Given the description of an element on the screen output the (x, y) to click on. 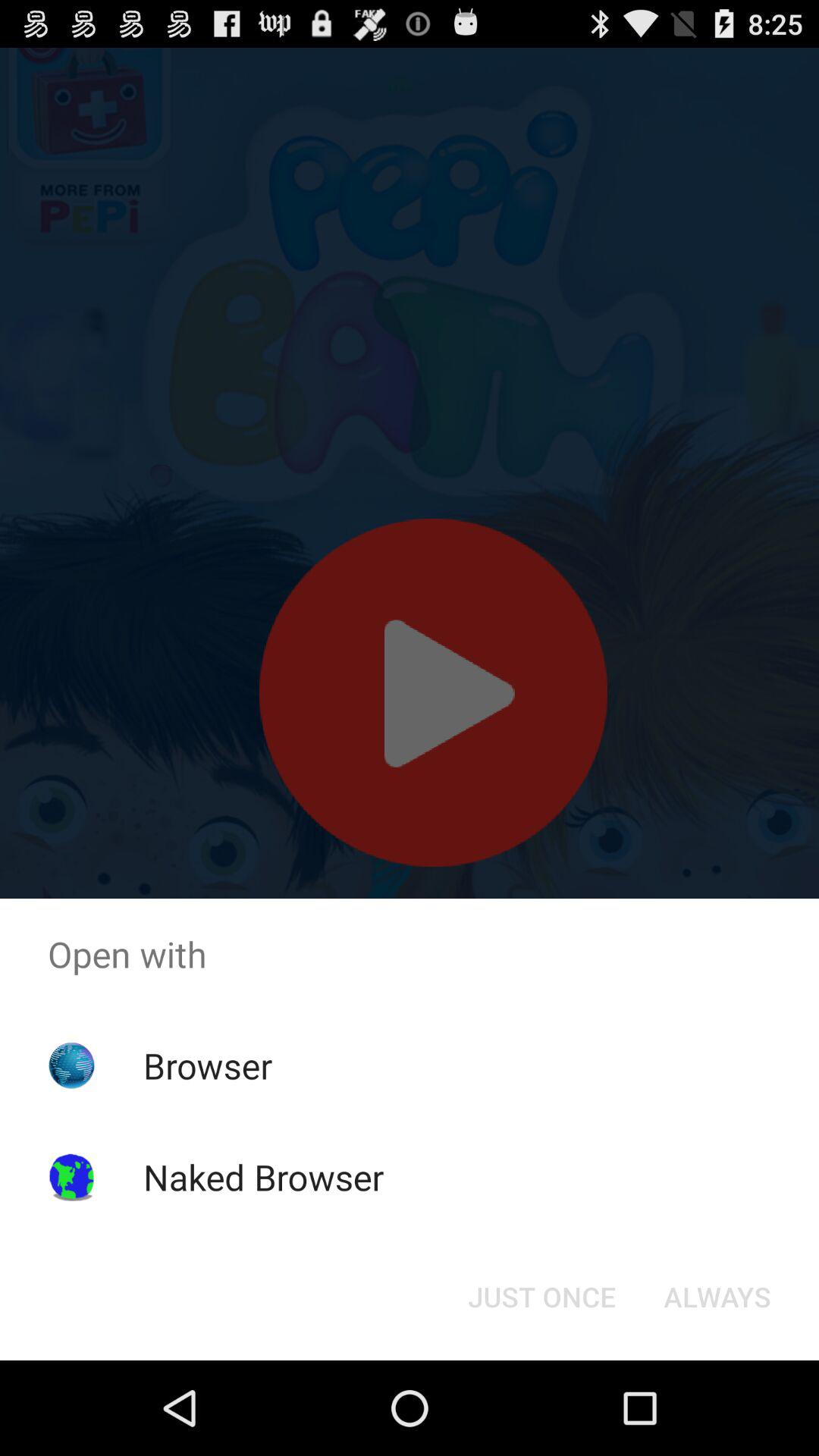
open icon below the open with app (541, 1296)
